Given the description of an element on the screen output the (x, y) to click on. 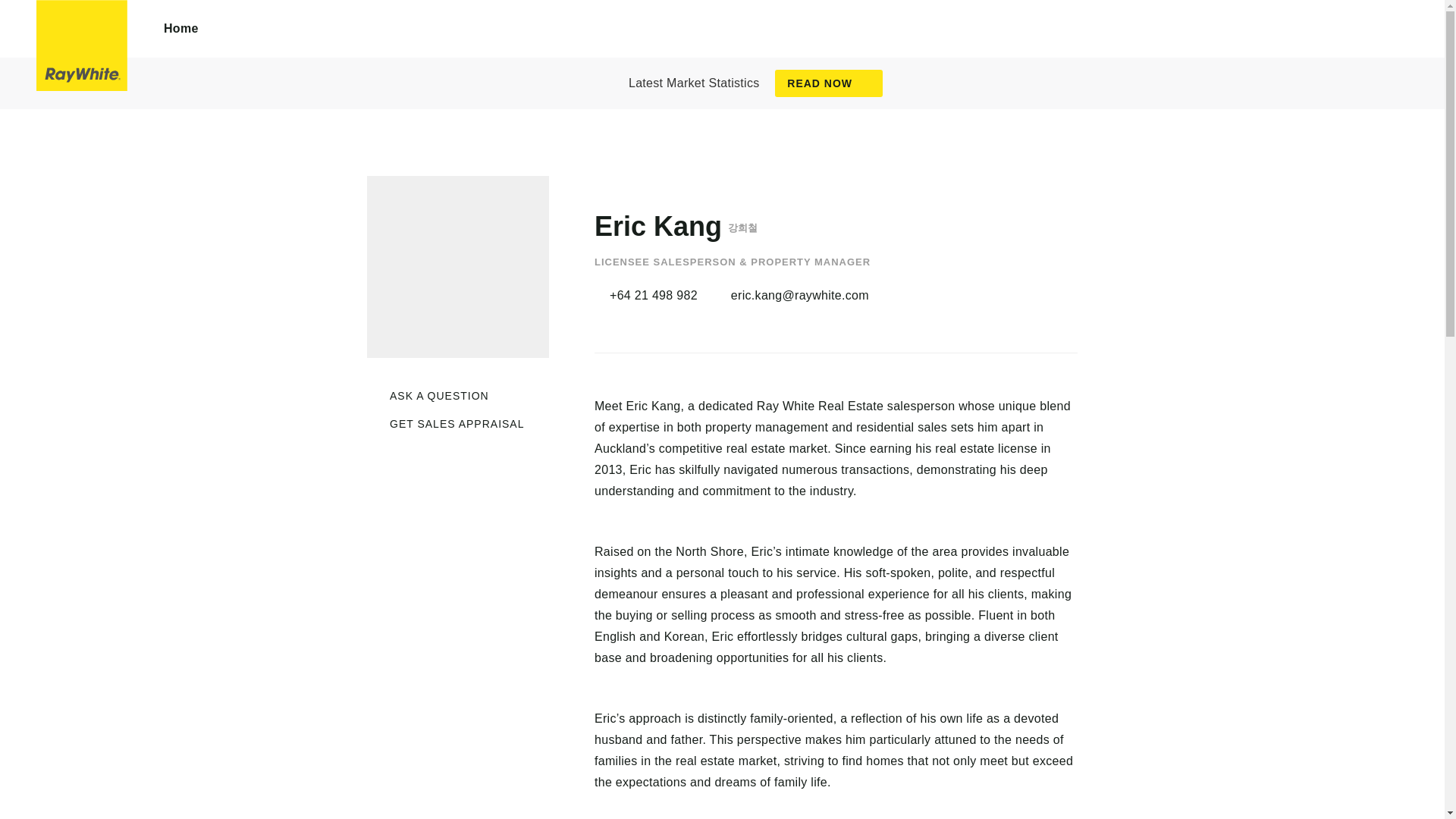
Home (180, 28)
GET SALES APPRAISAL (445, 424)
ASK A QUESTION (427, 396)
READ NOW (828, 83)
Ray White Pinehill (82, 45)
